Given the description of an element on the screen output the (x, y) to click on. 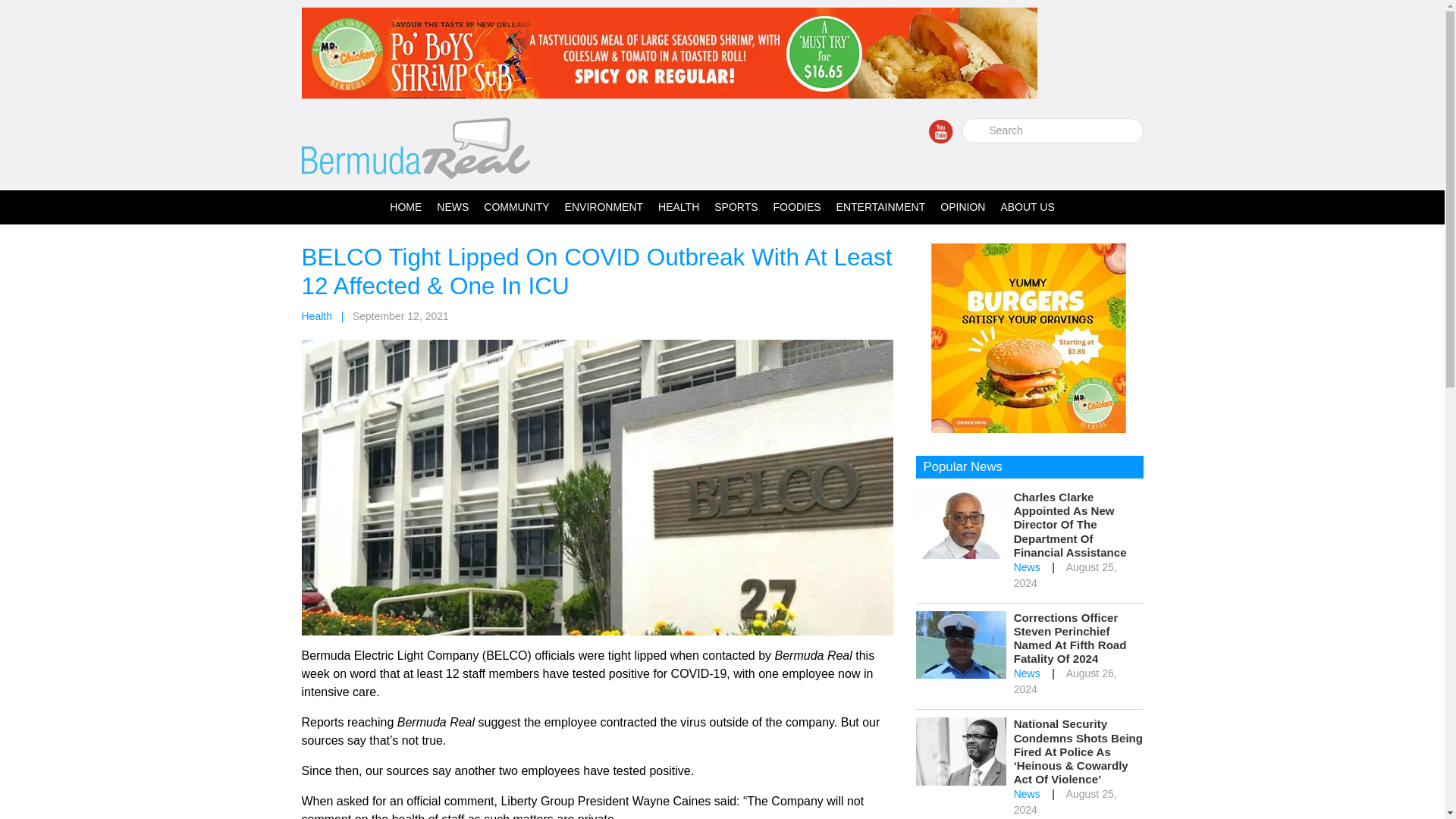
HEALTH (678, 207)
News (1027, 567)
OPINION (962, 207)
NEWS (452, 207)
Search for: (1051, 130)
Health (316, 316)
ABOUT US (1026, 207)
ENTERTAINMENT (880, 207)
